Given the description of an element on the screen output the (x, y) to click on. 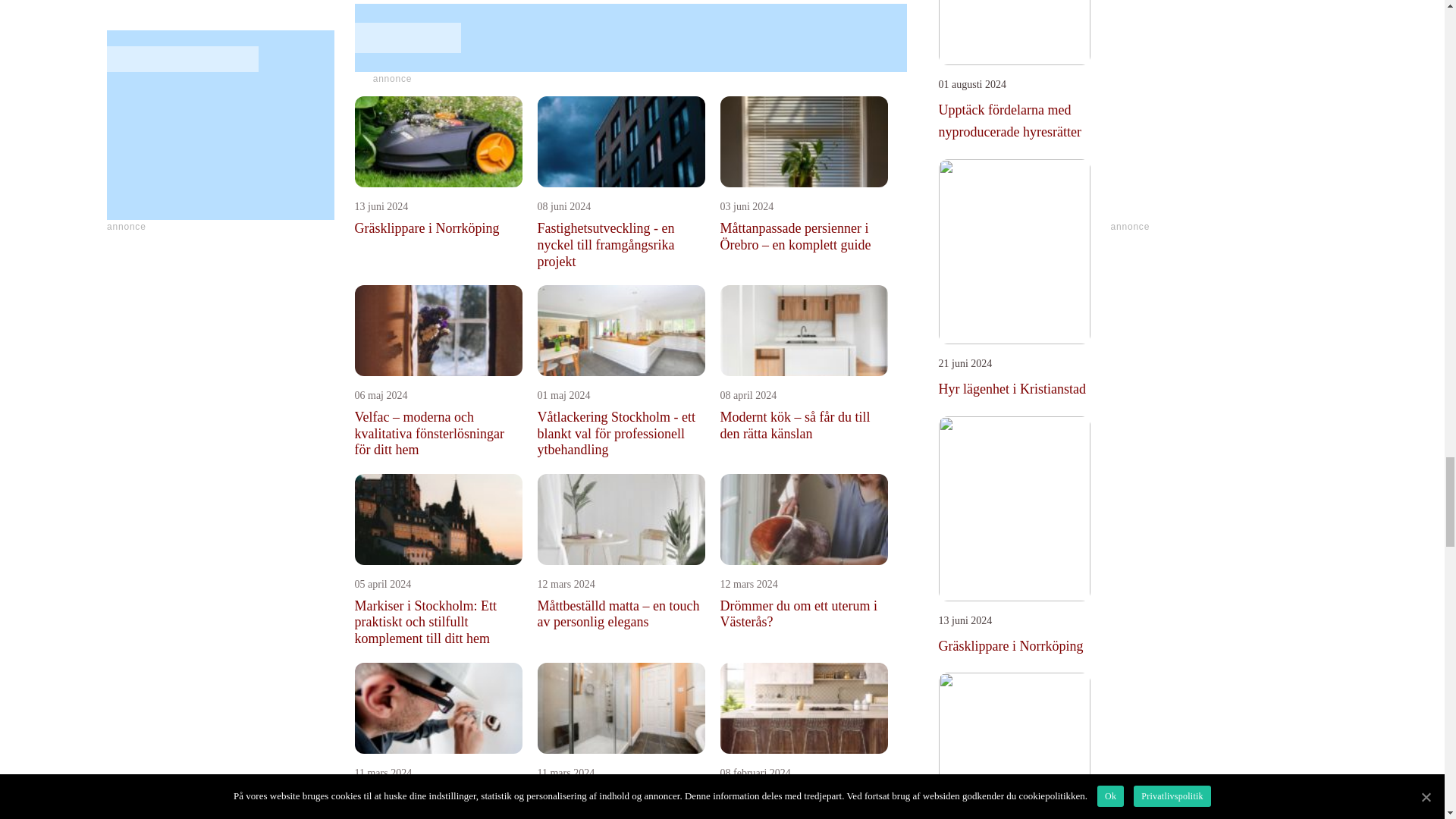
Click me! (392, 79)
Click me! (631, 38)
